Given the description of an element on the screen output the (x, y) to click on. 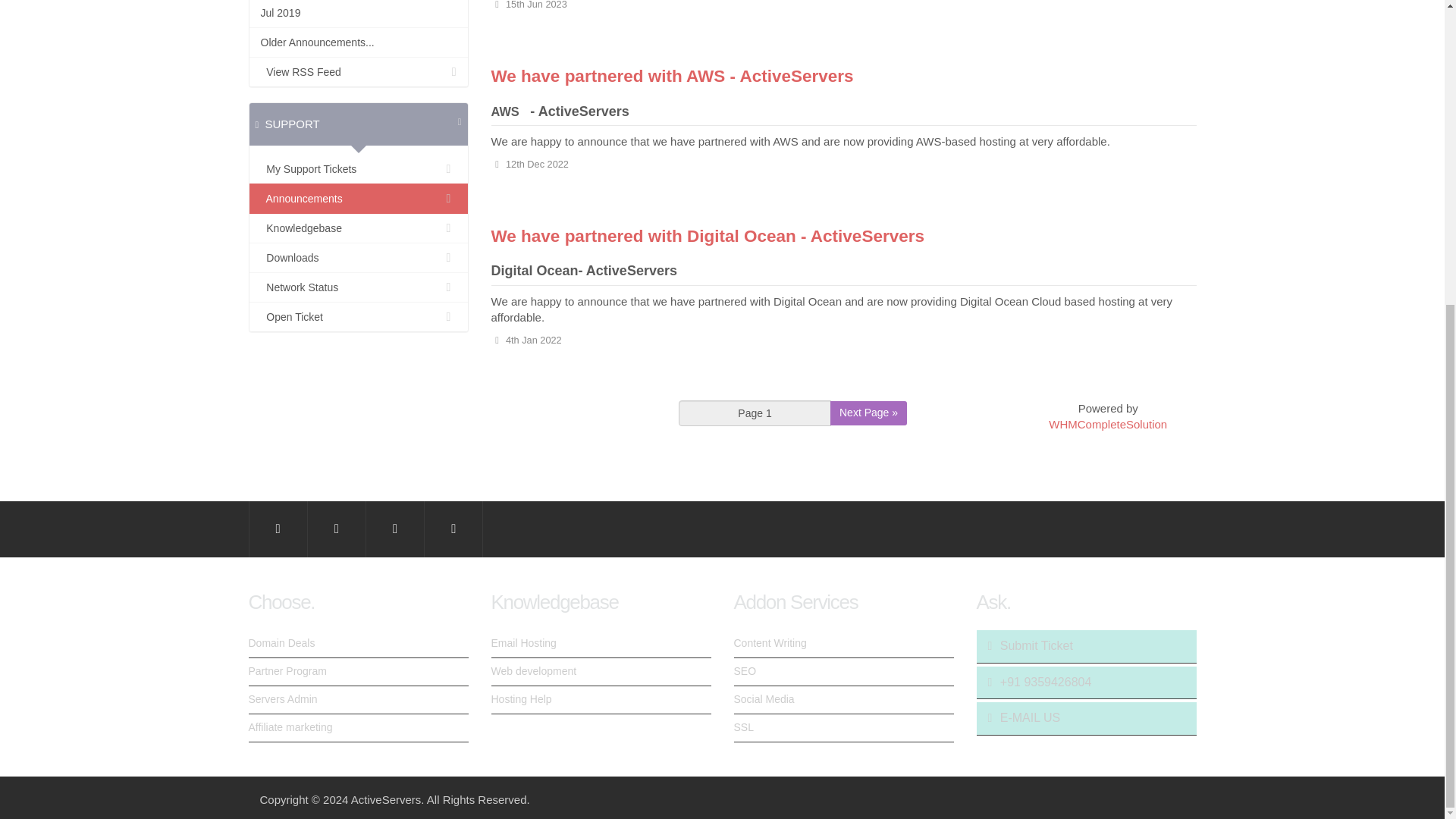
twitter (336, 528)
linkedin (395, 528)
facebook (278, 528)
skype (453, 528)
Page 1 (754, 412)
